Given the description of an element on the screen output the (x, y) to click on. 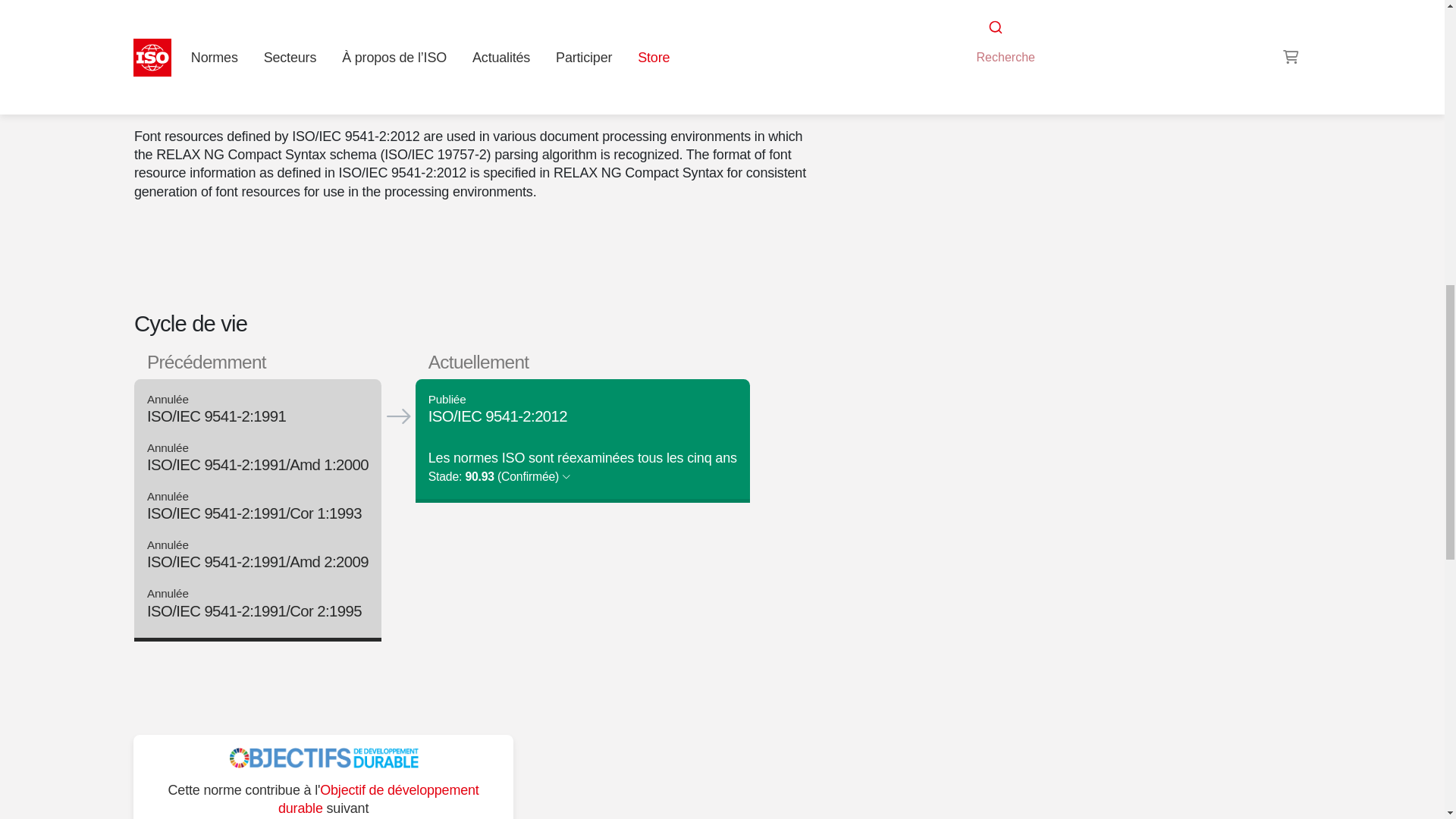
Description des documents et langages de traitement (1113, 5)
35.240.30 (997, 22)
RSS (956, 51)
